Given the description of an element on the screen output the (x, y) to click on. 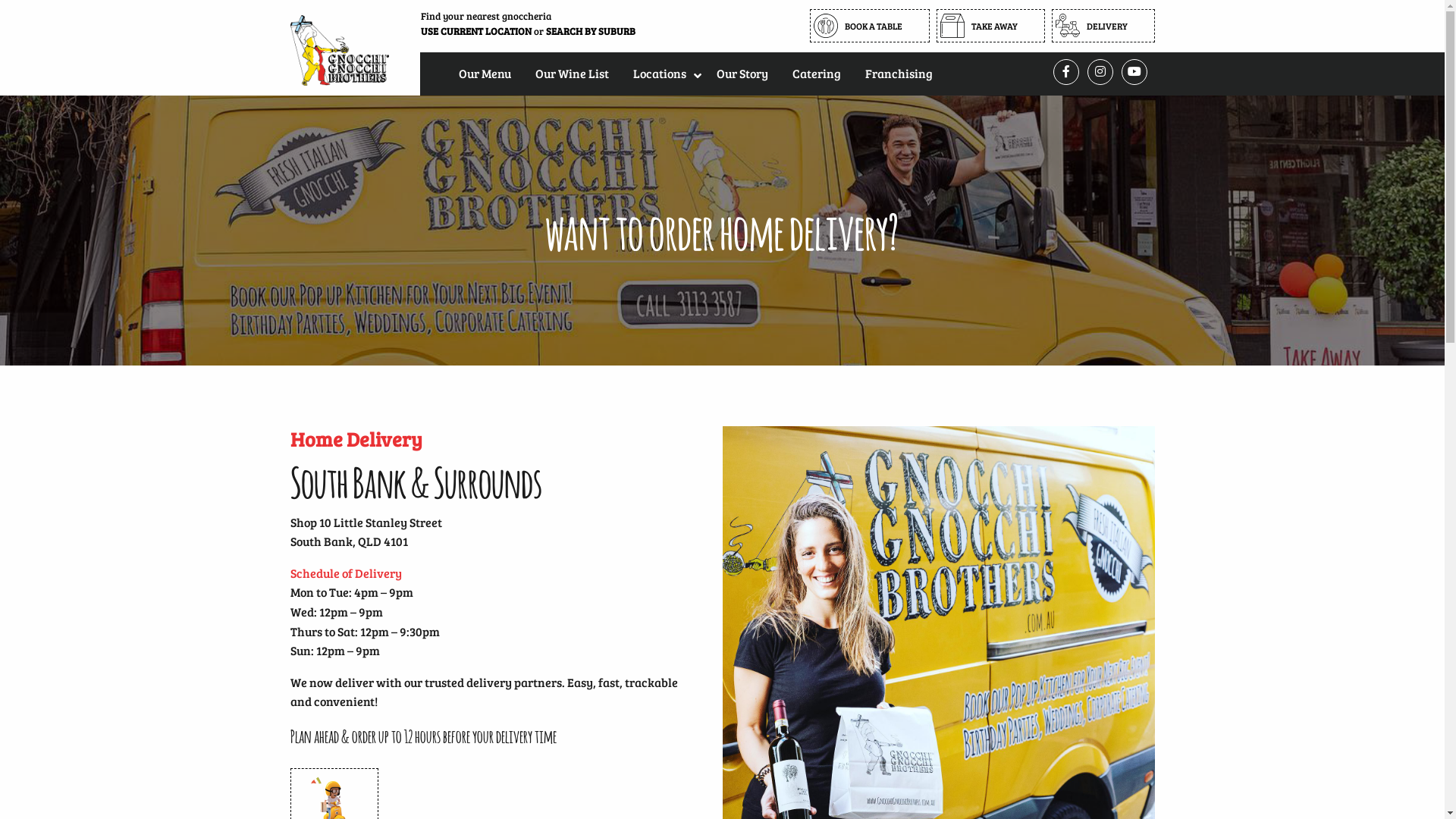
Locations Element type: text (661, 73)
SEARCH BY SUBURB Element type: text (590, 30)
Our Menu Element type: text (483, 73)
Franchising Element type: text (898, 73)
DELIVERY Element type: text (1102, 25)
USE CURRENT LOCATION Element type: text (475, 30)
TAKE AWAY Element type: text (989, 25)
Our Story Element type: text (741, 73)
BOOK A TABLE Element type: text (869, 25)
Catering Element type: text (815, 73)
Our Wine List Element type: text (572, 73)
